Given the description of an element on the screen output the (x, y) to click on. 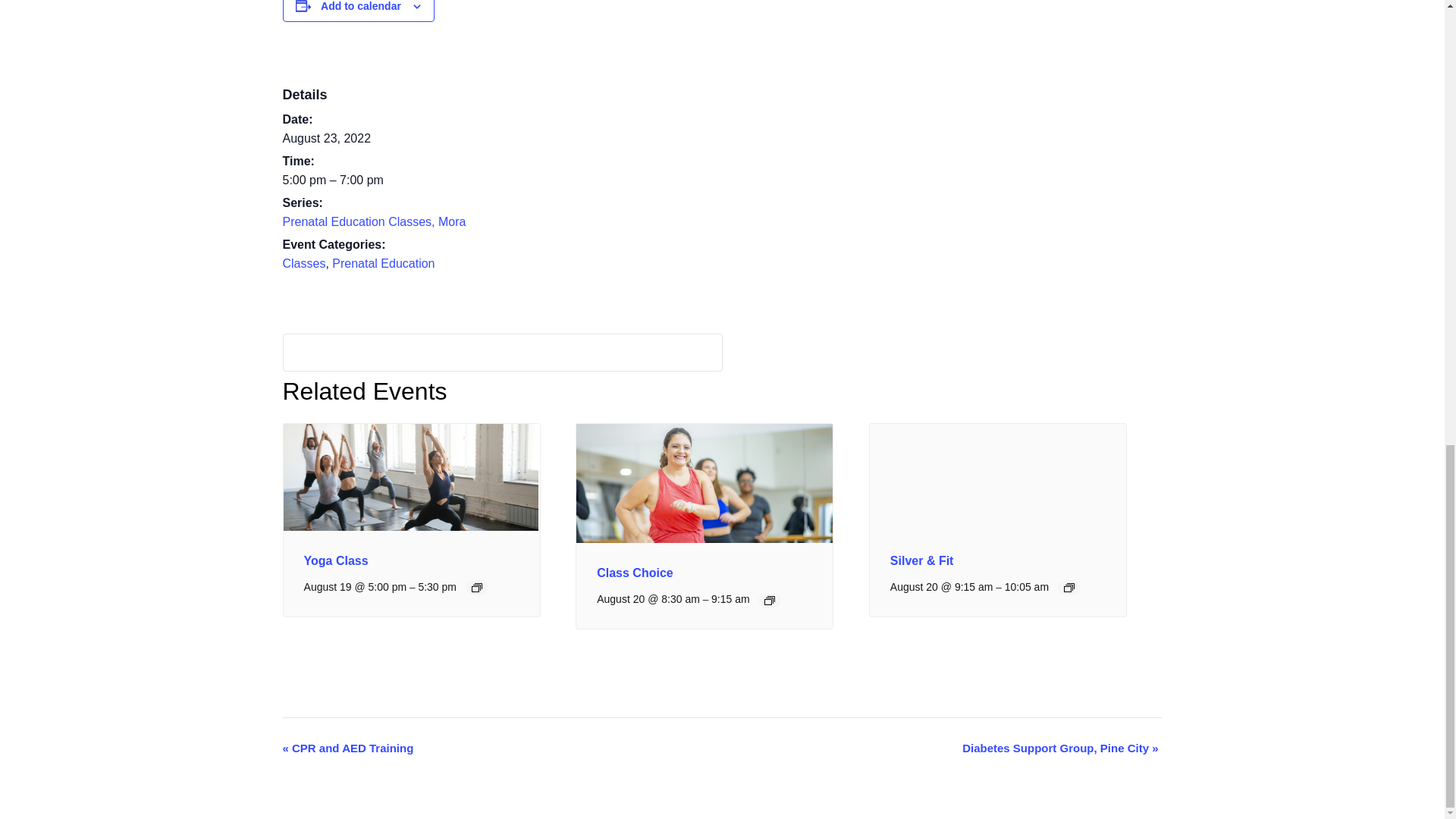
Event Series (1069, 587)
Prenatal Education Classes, Mora (373, 221)
2022-08-23 (326, 137)
Event Series (476, 587)
2022-08-23 (373, 180)
Event Series (769, 600)
